Given the description of an element on the screen output the (x, y) to click on. 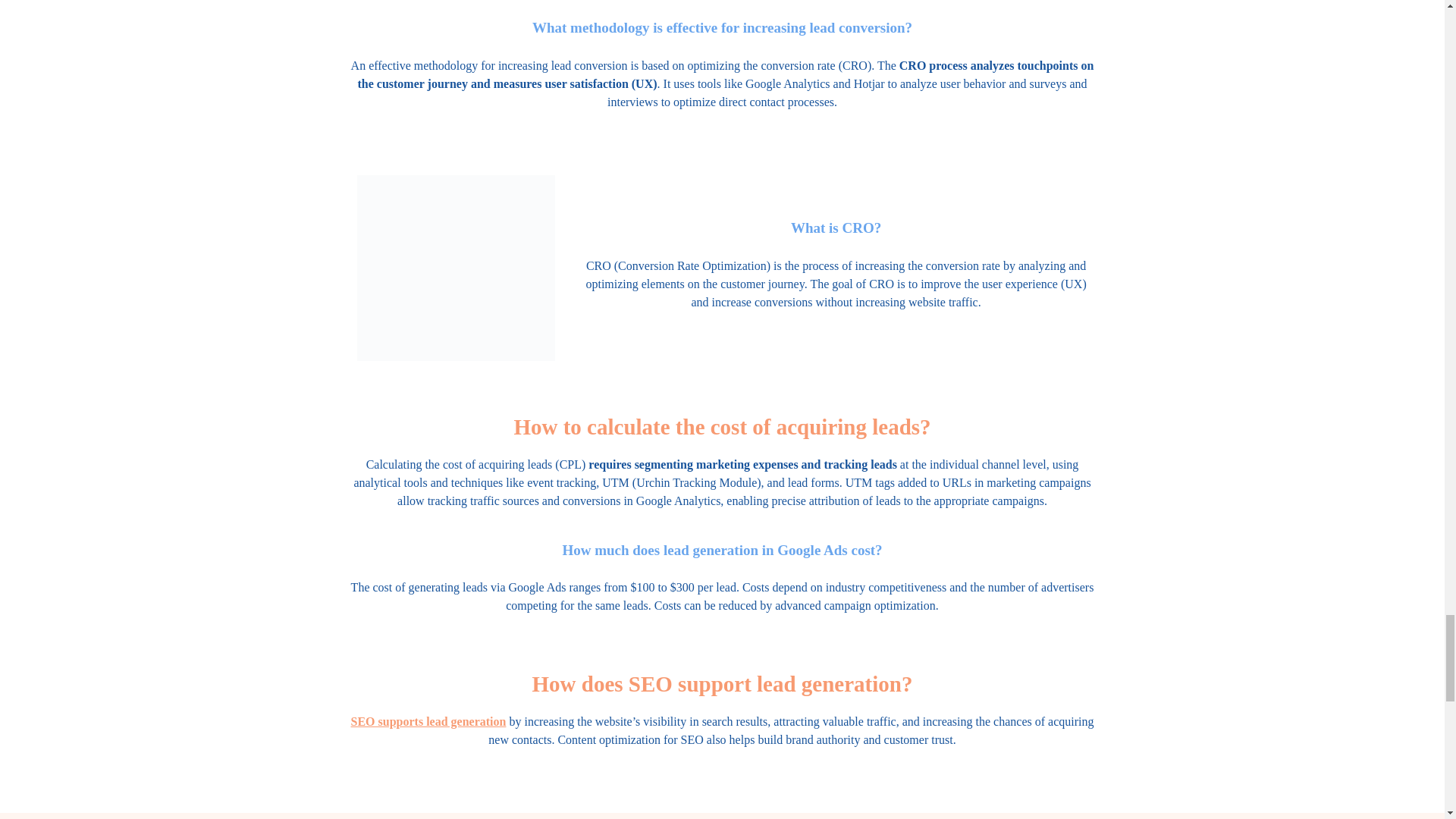
SEO supports lead generation (428, 721)
